Given the description of an element on the screen output the (x, y) to click on. 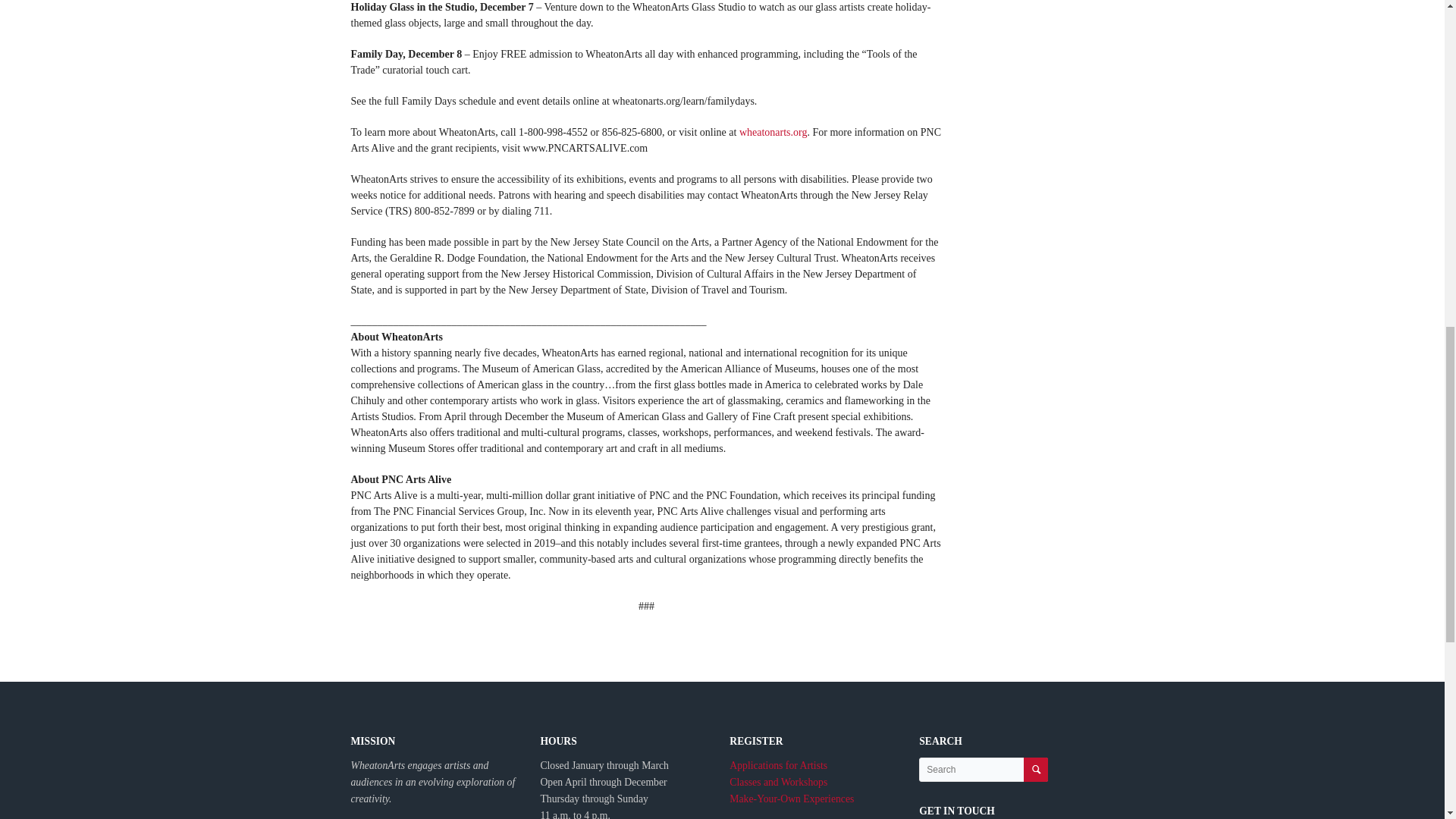
Search (1035, 769)
